Given the description of an element on the screen output the (x, y) to click on. 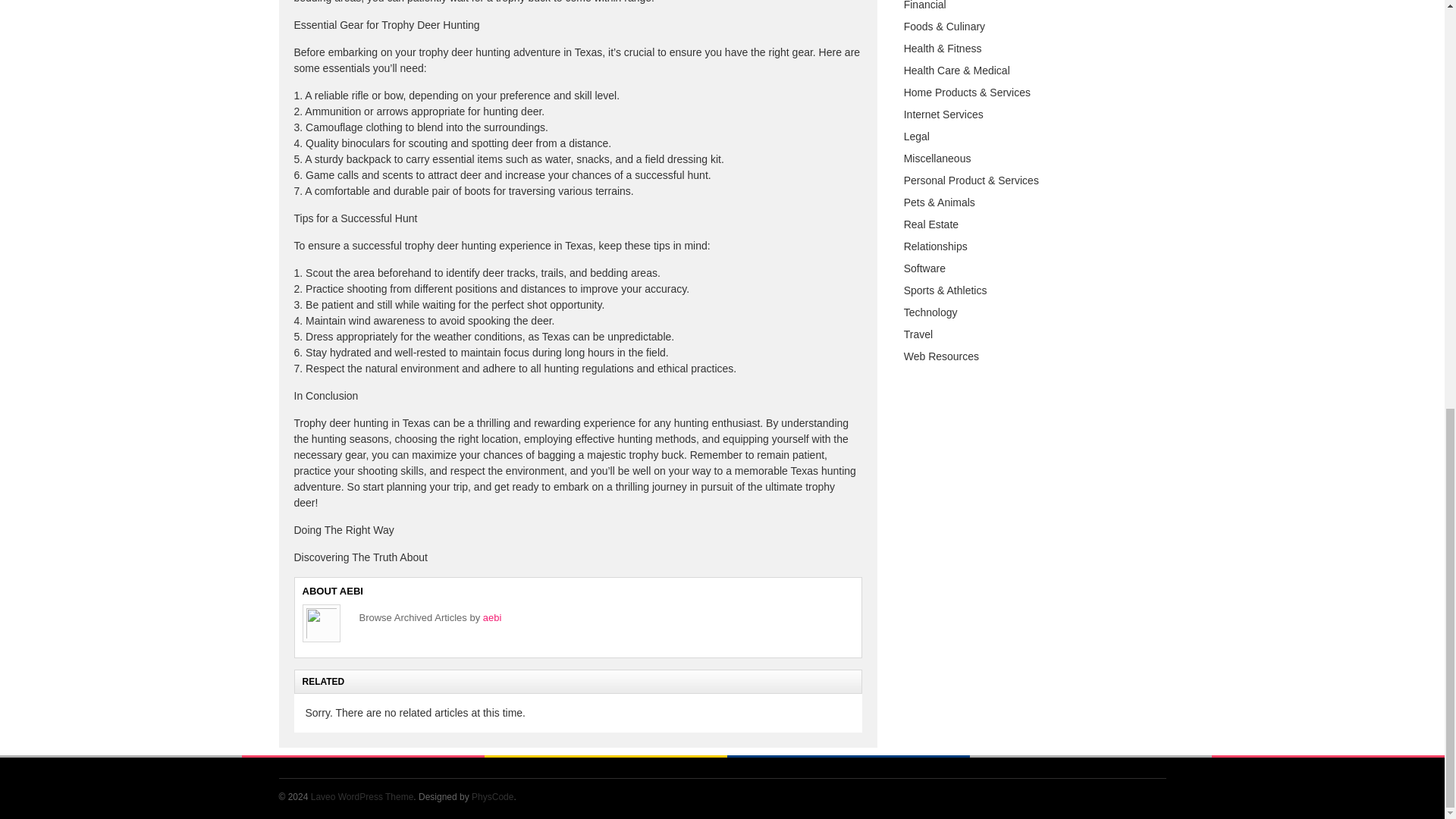
Doing The Right Way (344, 530)
Financial (925, 5)
Legal (917, 136)
aebi (492, 617)
Real Estate (931, 224)
Discovering The Truth About (361, 557)
Miscellaneous (937, 158)
Internet Services (944, 114)
